Given the description of an element on the screen output the (x, y) to click on. 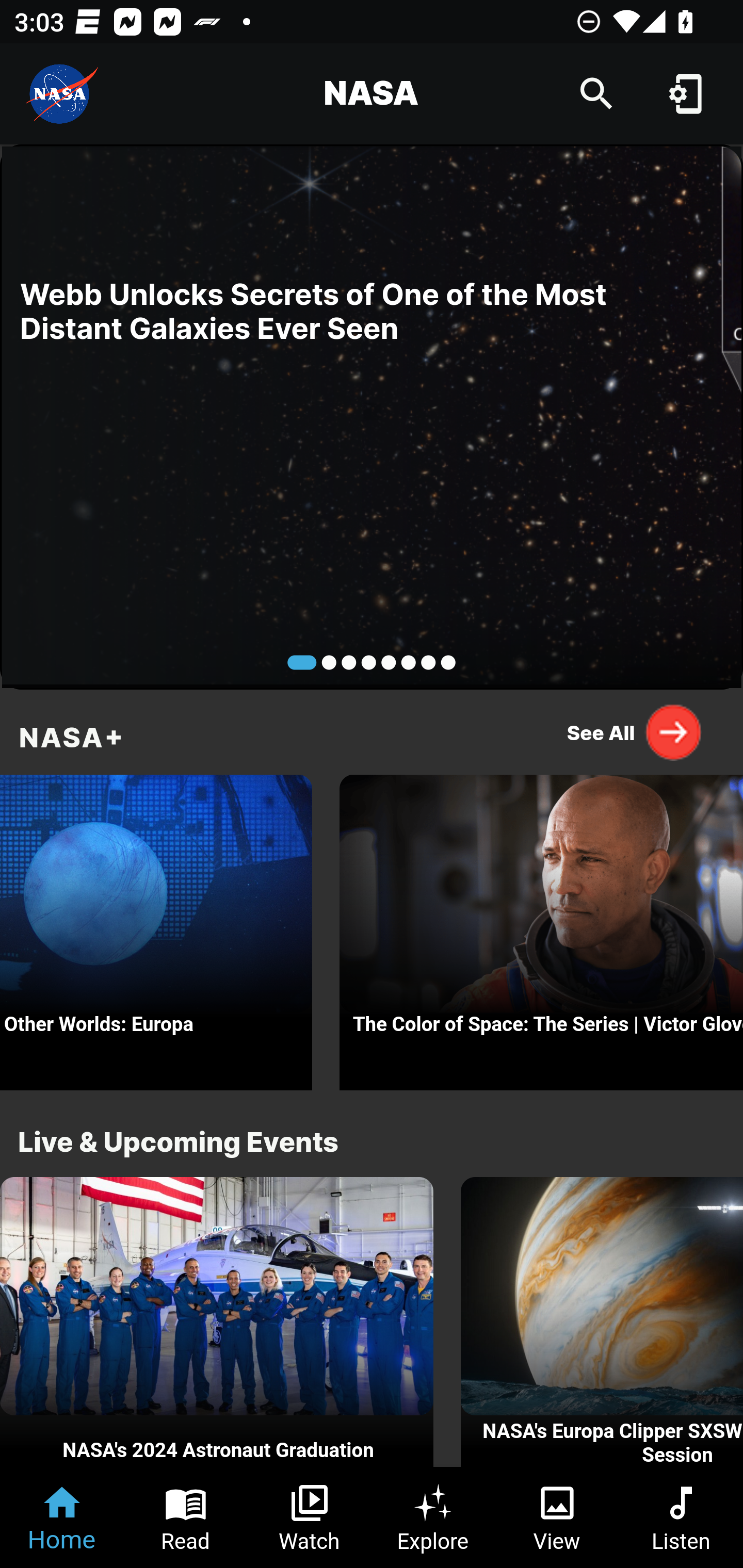
See All (634, 732)
Other Worlds: Europa (156, 927)
The Color of Space: The Series | Victor Glover (541, 927)
NASA's 2024 Astronaut Graduation (216, 1322)
NASA's Europa Clipper SXSW 2024 Opening Session (601, 1322)
Home
Tab 1 of 6 (62, 1517)
Read
Tab 2 of 6 (185, 1517)
Watch
Tab 3 of 6 (309, 1517)
Explore
Tab 4 of 6 (433, 1517)
View
Tab 5 of 6 (556, 1517)
Listen
Tab 6 of 6 (680, 1517)
